Given the description of an element on the screen output the (x, y) to click on. 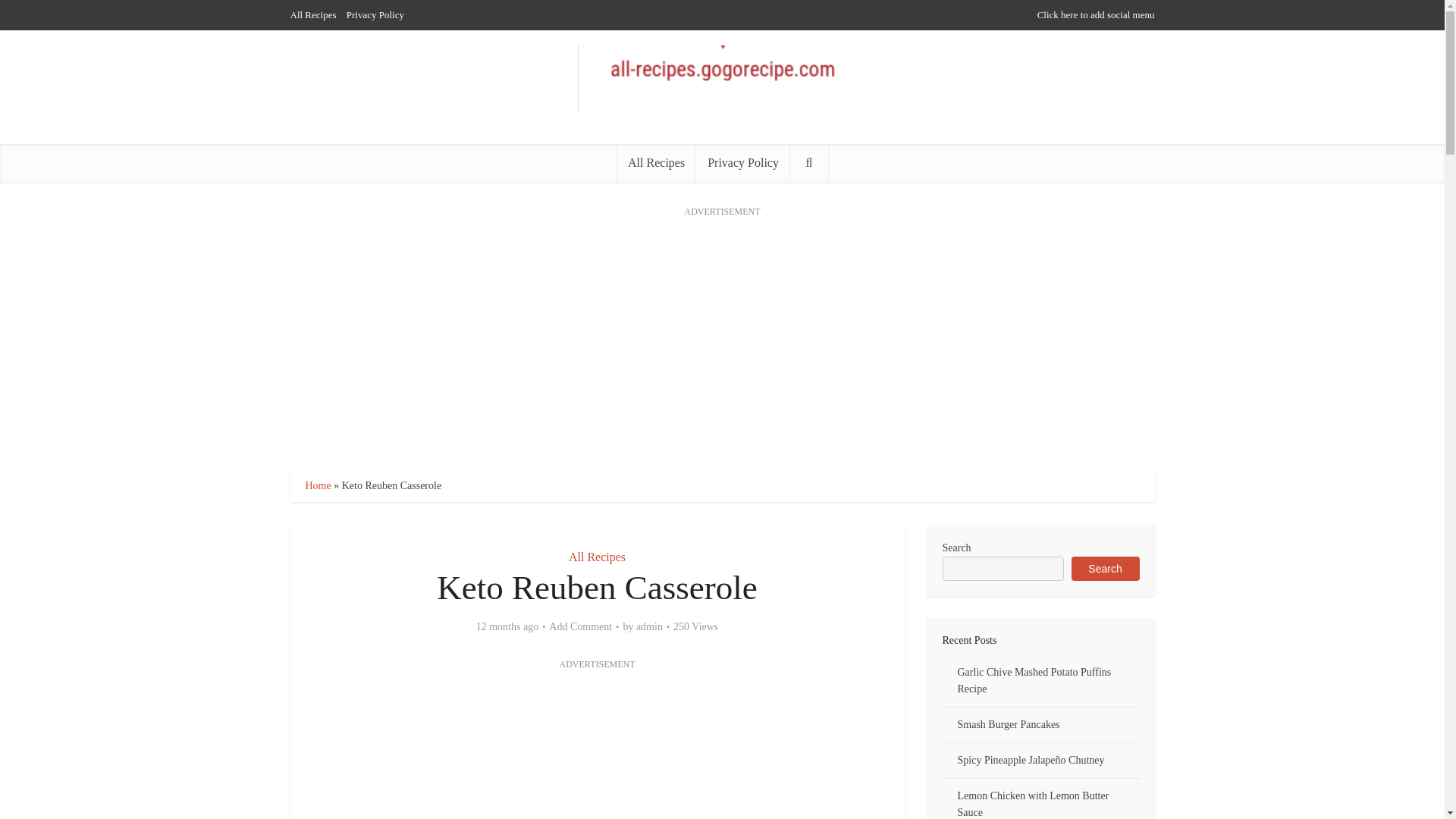
Privacy Policy (742, 162)
Home (317, 485)
Add Comment (579, 626)
Click here to add social menu (1095, 14)
Privacy Policy (375, 14)
All Recipes (312, 14)
All Recipes (597, 556)
admin (649, 626)
All Recipes (655, 162)
